Given the description of an element on the screen output the (x, y) to click on. 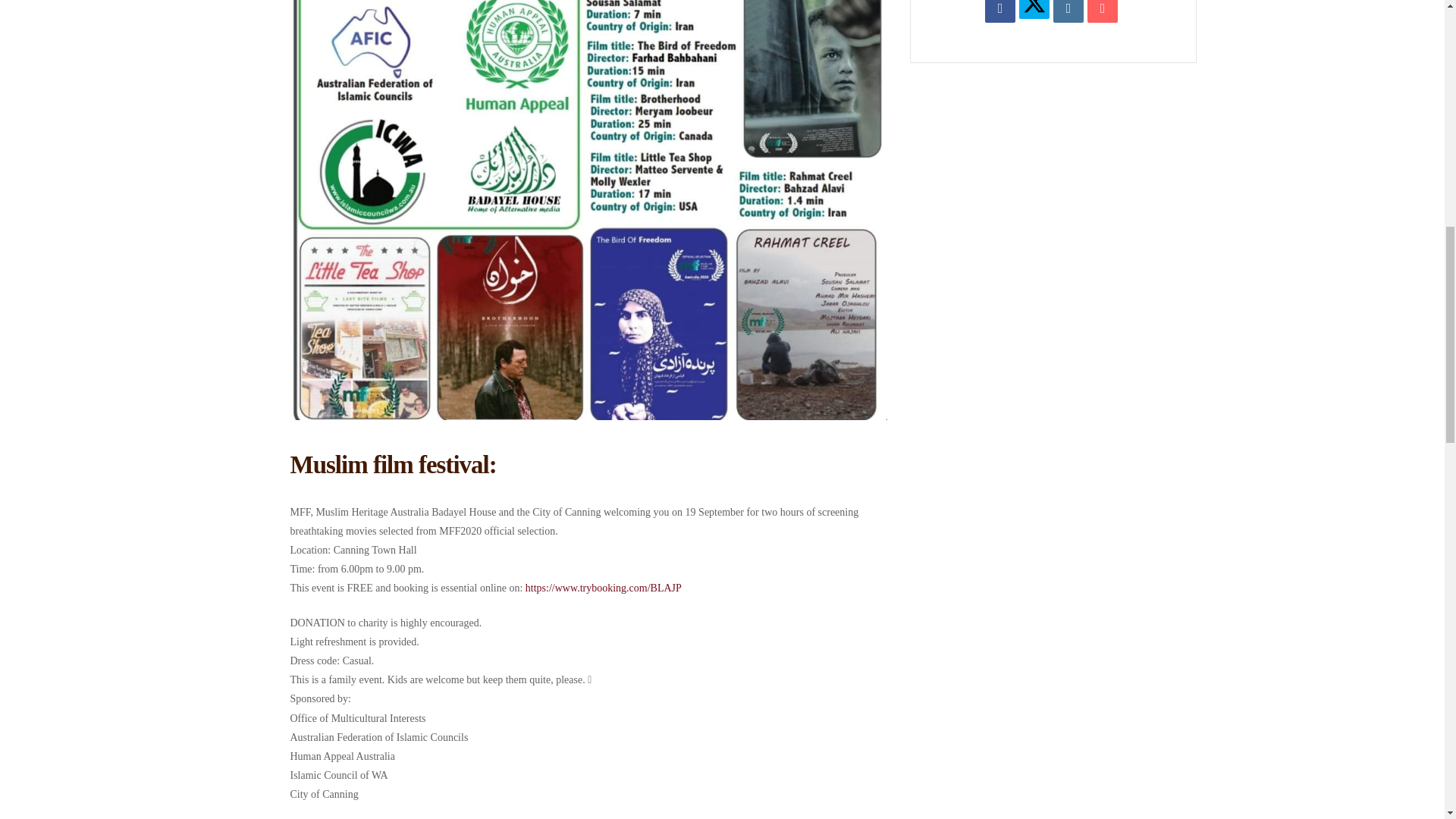
Email (1102, 11)
Linkedin (1067, 11)
X Social Network (1034, 9)
Share on Facebook (999, 11)
